Given the description of an element on the screen output the (x, y) to click on. 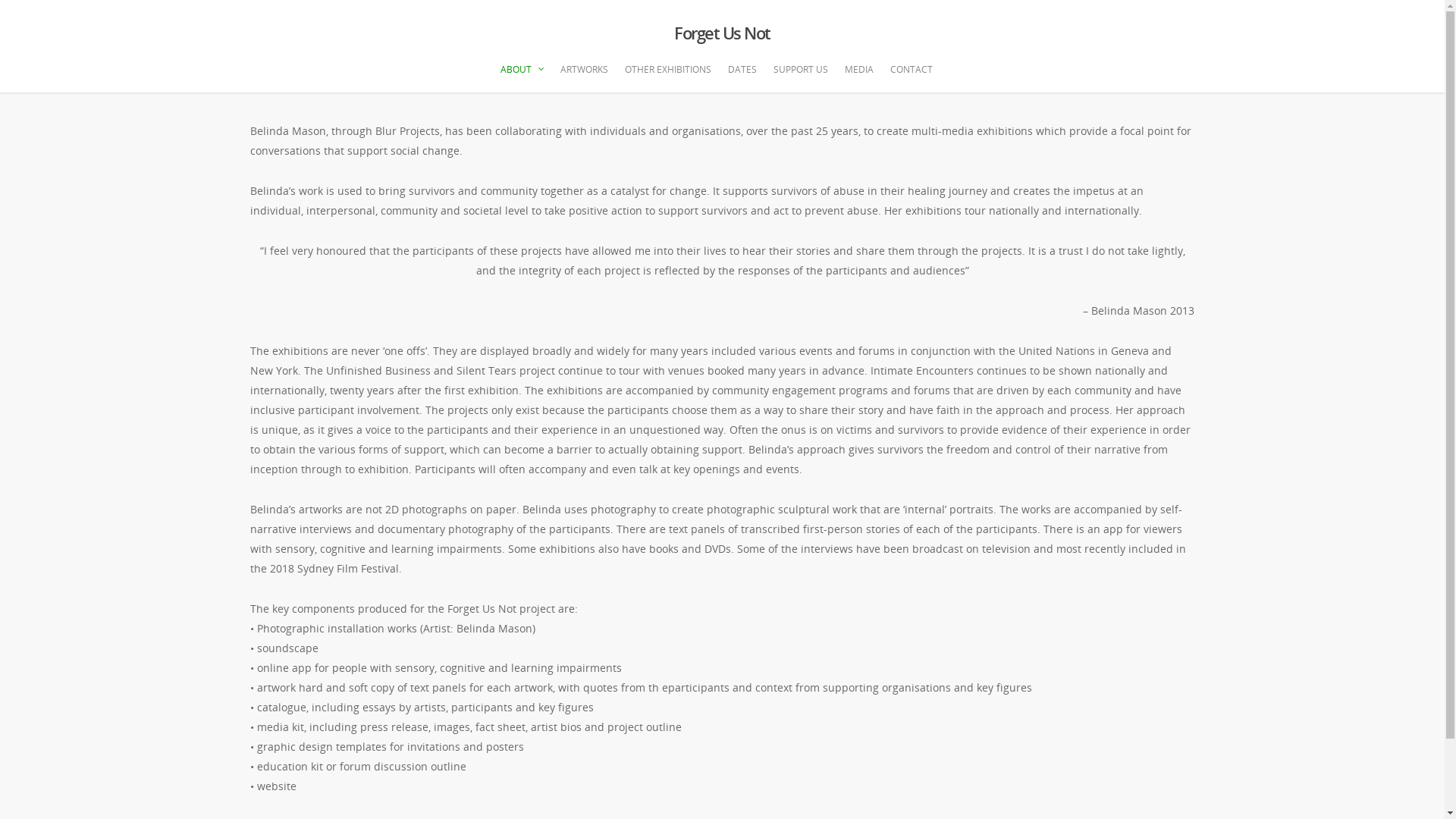
MEDIA Element type: text (859, 77)
ABOUT Element type: text (521, 77)
ARTWORKS Element type: text (583, 77)
Forget Us Not Element type: text (722, 32)
SUPPORT US Element type: text (800, 77)
CONTACT Element type: text (911, 77)
OTHER EXHIBITIONS Element type: text (667, 77)
DATES Element type: text (742, 77)
